Given the description of an element on the screen output the (x, y) to click on. 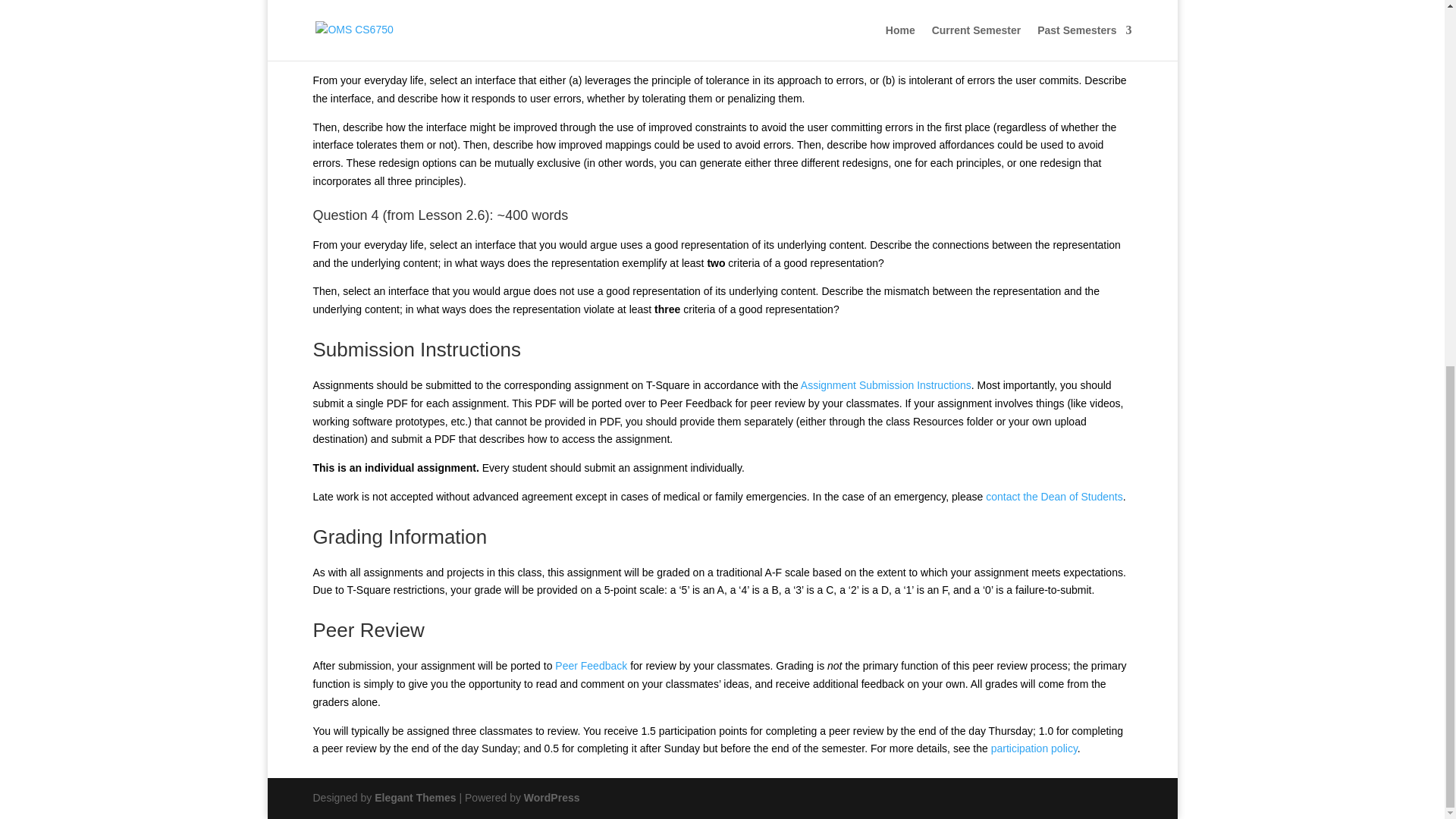
participation policy (1034, 748)
WordPress (551, 797)
Peer Feedback (590, 665)
Elegant Themes (414, 797)
Assignment Submission Instructions (885, 385)
contact the Dean of Students (1053, 496)
Premium WordPress Themes (414, 797)
